Given the description of an element on the screen output the (x, y) to click on. 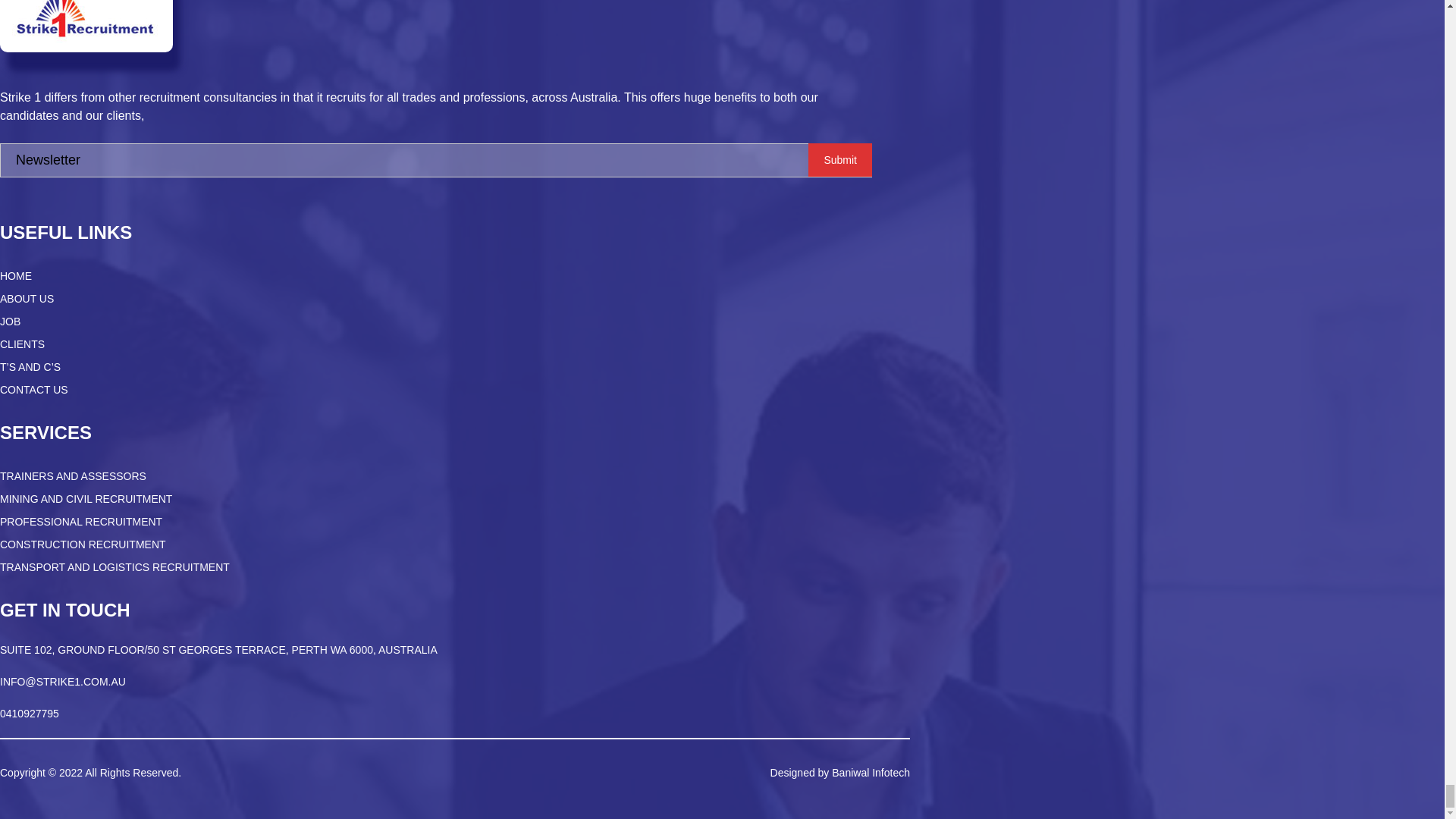
Submit (840, 159)
